Given the description of an element on the screen output the (x, y) to click on. 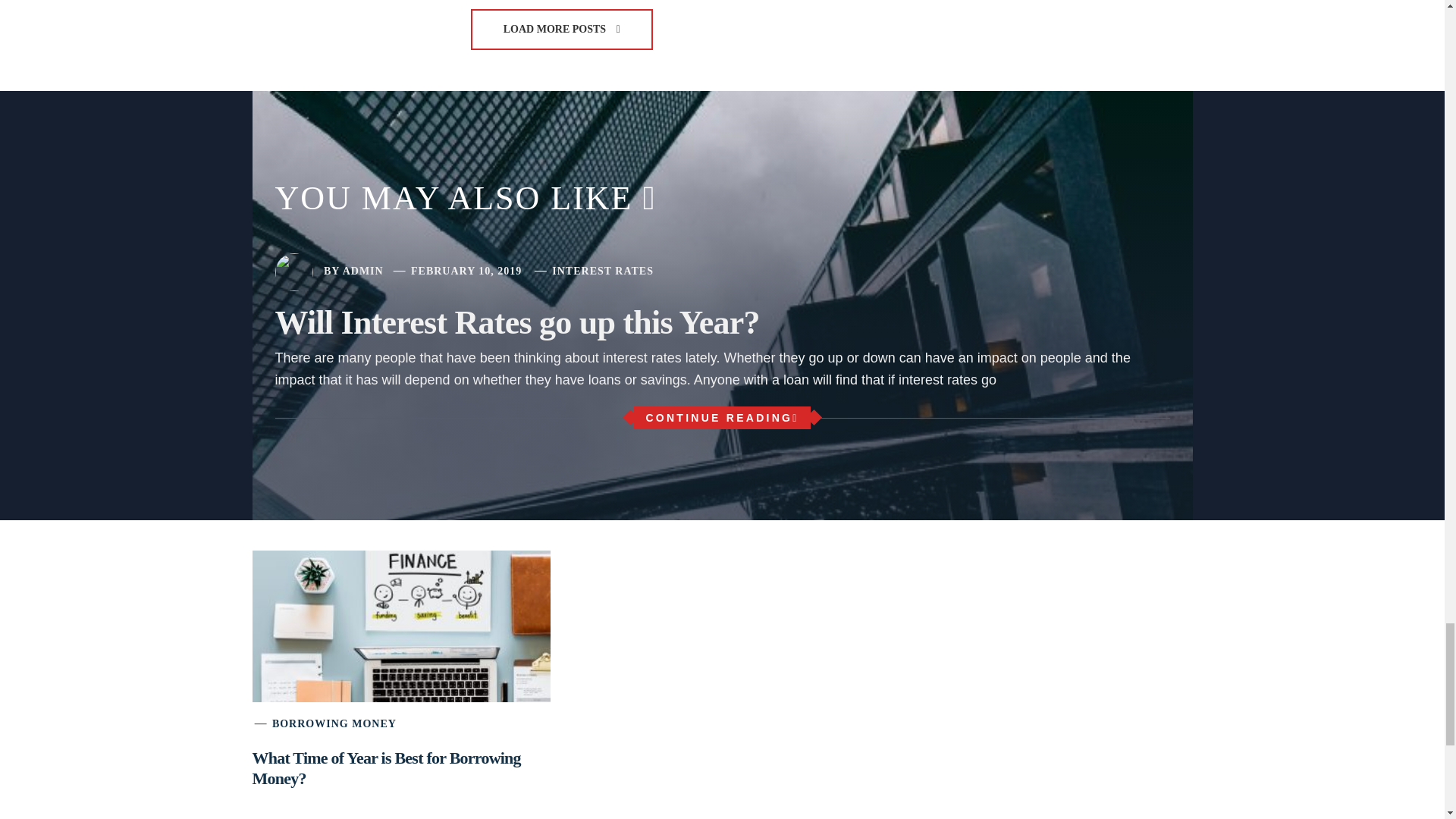
CONTINUE READING (721, 417)
BORROWING MONEY (334, 723)
What Time of Year is Best for Borrowing Money? (385, 767)
FEBRUARY 10, 2019 (465, 270)
LOAD MORE POSTS (561, 29)
Will Interest Rates go up this Year? (516, 322)
ADMIN (363, 270)
INTEREST RATES (602, 270)
